Given the description of an element on the screen output the (x, y) to click on. 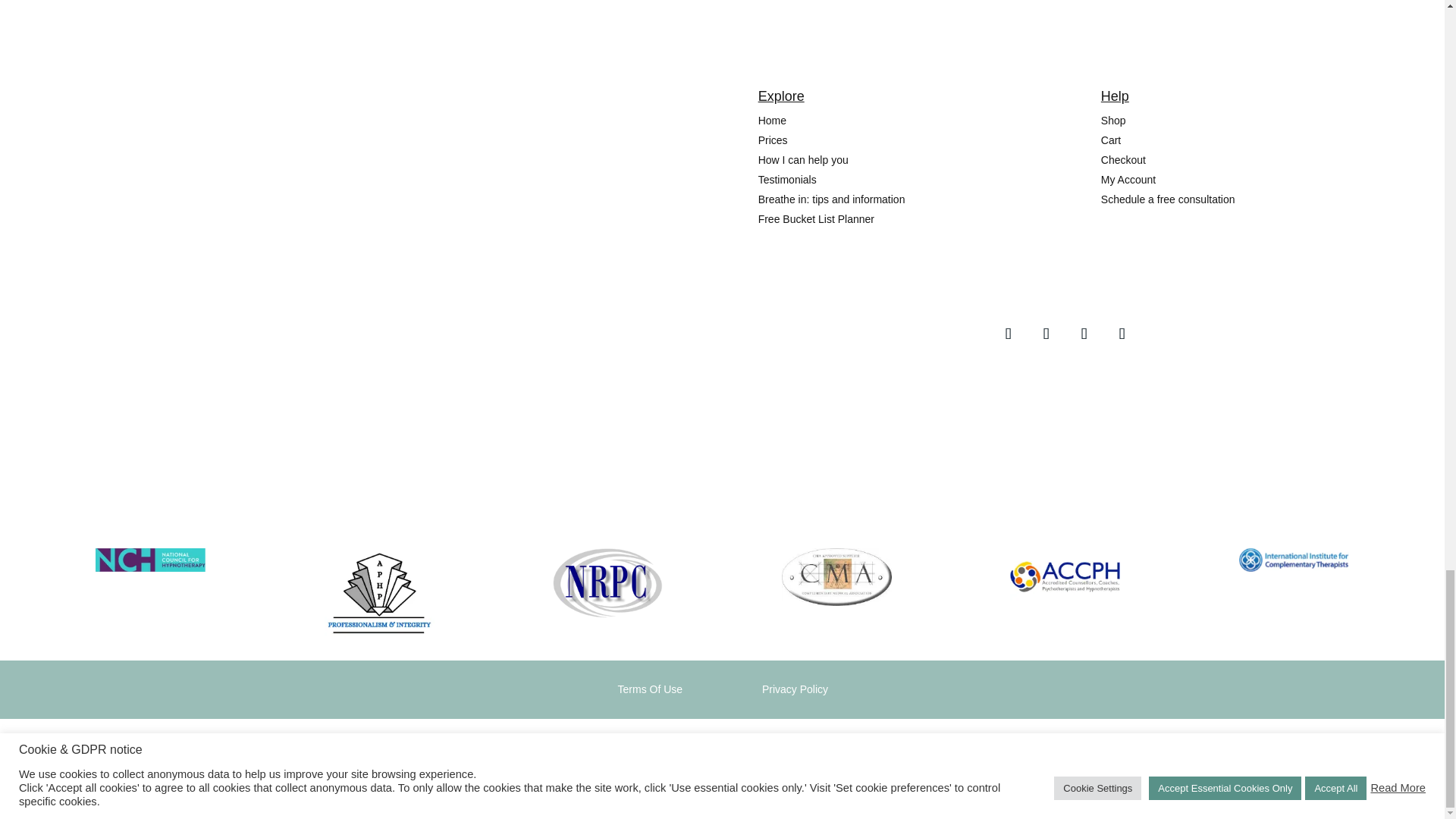
Time To Breathe - APHP Logo (378, 593)
Time To Breathe - ACCPH Logo (1064, 576)
Follow on Instagram (1046, 333)
Time To Breathe - NCH Logo (150, 559)
Follow on LinkedIn (1122, 333)
Follow on X (1084, 333)
Time To Breathe - NRPC Logo (607, 582)
Time To Breathe - CMA Logo (836, 576)
Follow on Facebook (1008, 333)
Time To Breathe - IICT Logo (1294, 559)
